Given the description of an element on the screen output the (x, y) to click on. 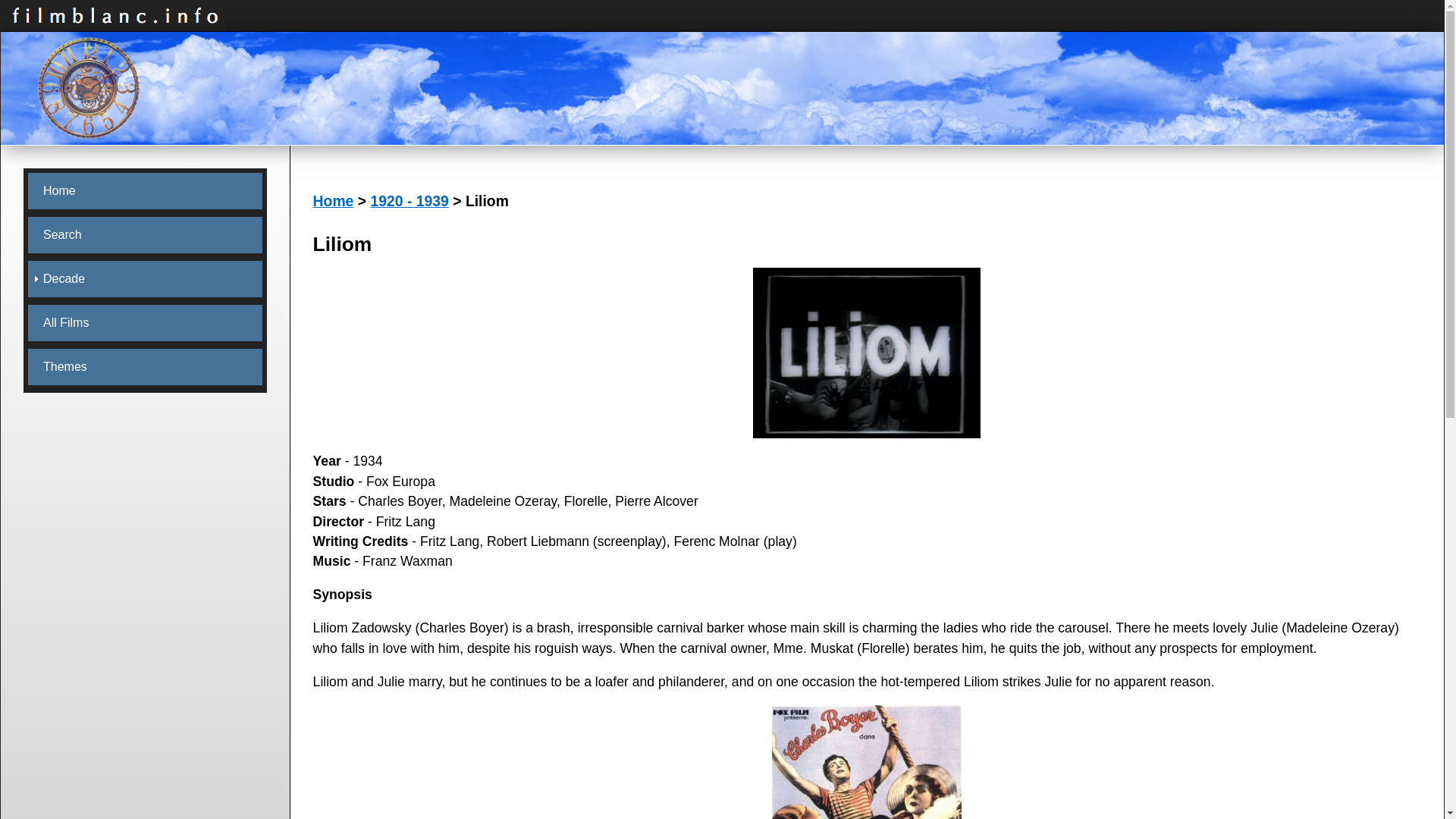
Home (144, 190)
Home (333, 200)
All Films (144, 322)
Decade (144, 279)
Themes (144, 366)
Search (144, 235)
1920 - 1939 (408, 200)
